Given the description of an element on the screen output the (x, y) to click on. 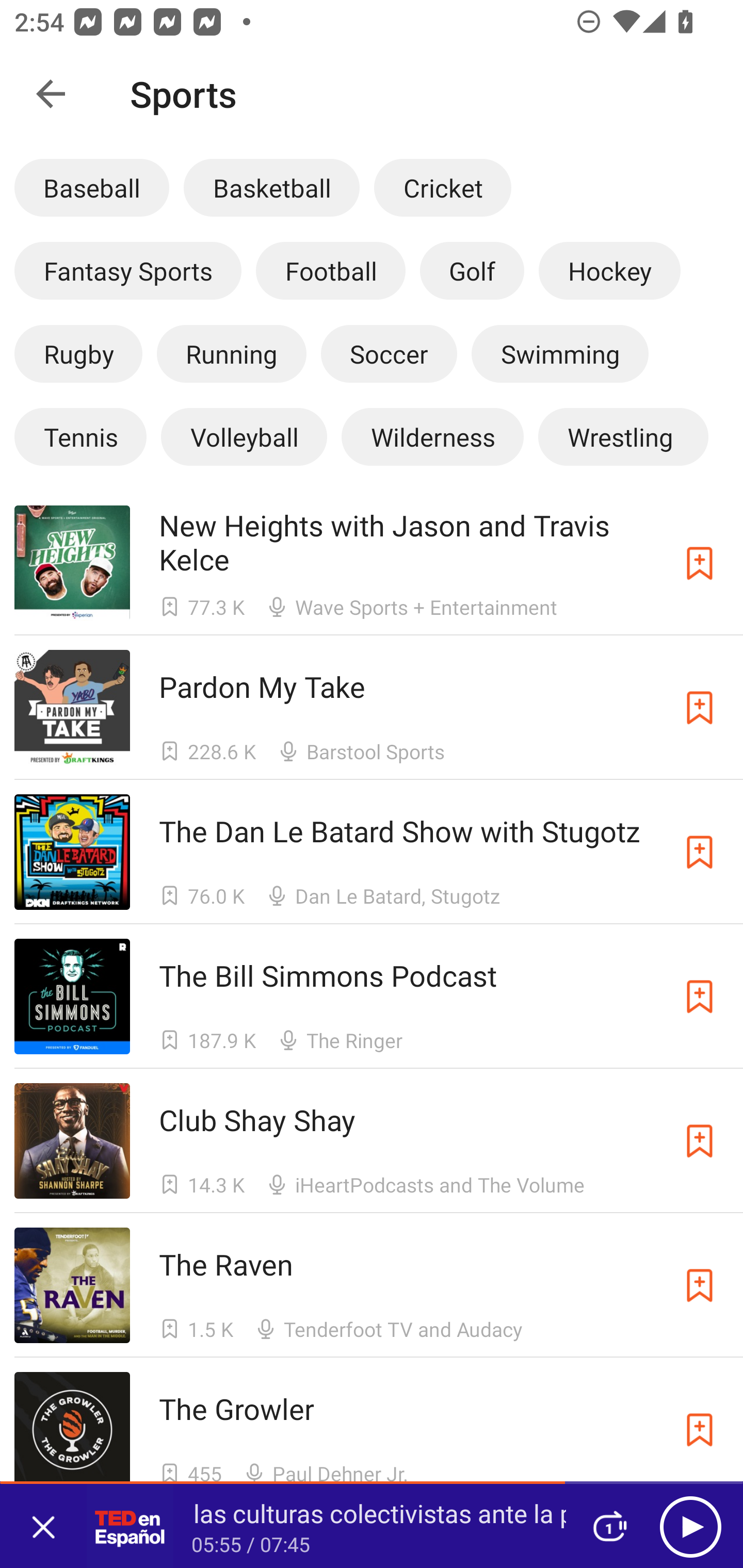
Navigate up (50, 93)
Baseball (91, 187)
Basketball (271, 187)
Cricket (442, 187)
Fantasy Sports (127, 270)
Football (330, 270)
Golf (471, 270)
Hockey (609, 270)
Rugby (78, 353)
Running (231, 353)
Soccer (388, 353)
Swimming (559, 353)
Tennis (80, 436)
Volleyball (243, 436)
Wilderness (432, 436)
Wrestling  (622, 436)
Subscribe (699, 562)
Subscribe (699, 707)
Subscribe (699, 851)
Subscribe (699, 996)
Subscribe (699, 1140)
Subscribe (699, 1285)
Subscribe (699, 1430)
Play (690, 1526)
